Given the description of an element on the screen output the (x, y) to click on. 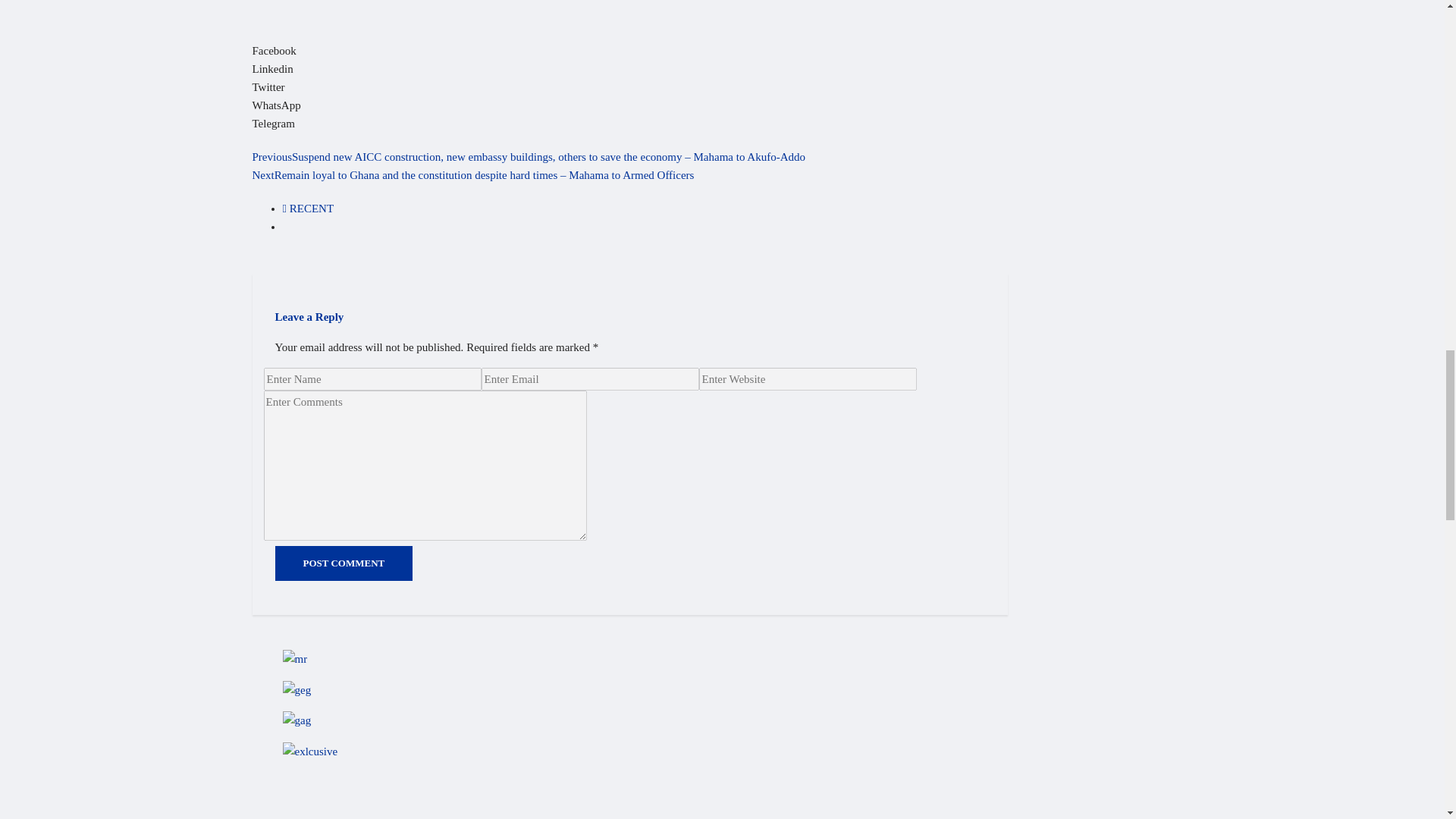
Post Comment (389, 732)
